Given the description of an element on the screen output the (x, y) to click on. 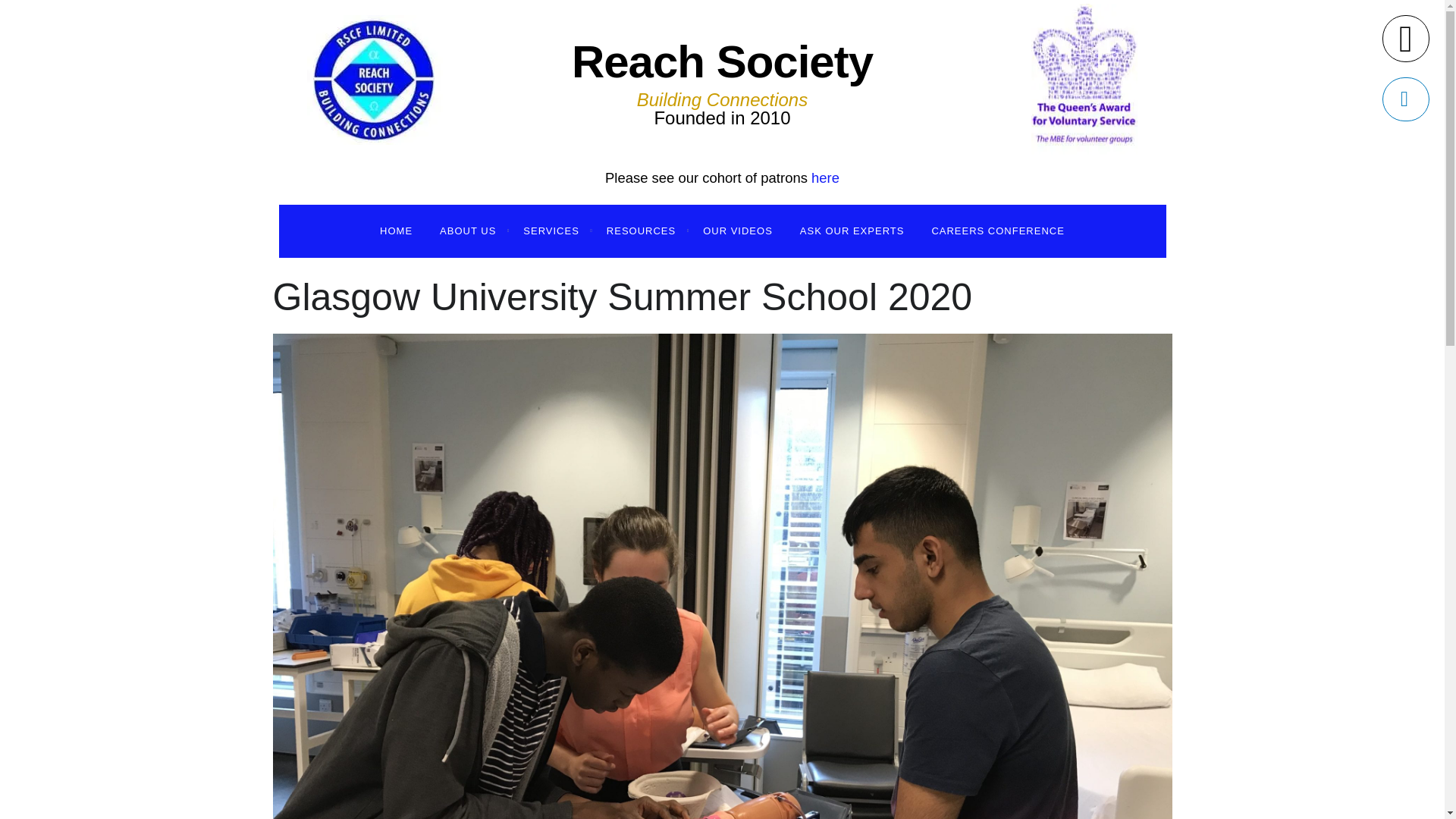
ABOUT US (467, 231)
ASK OUR EXPERTS (852, 231)
CAREERS CONFERENCE (997, 231)
SERVICES (550, 231)
OUR VIDEOS (737, 231)
here (825, 177)
RESOURCES (640, 231)
